Given the description of an element on the screen output the (x, y) to click on. 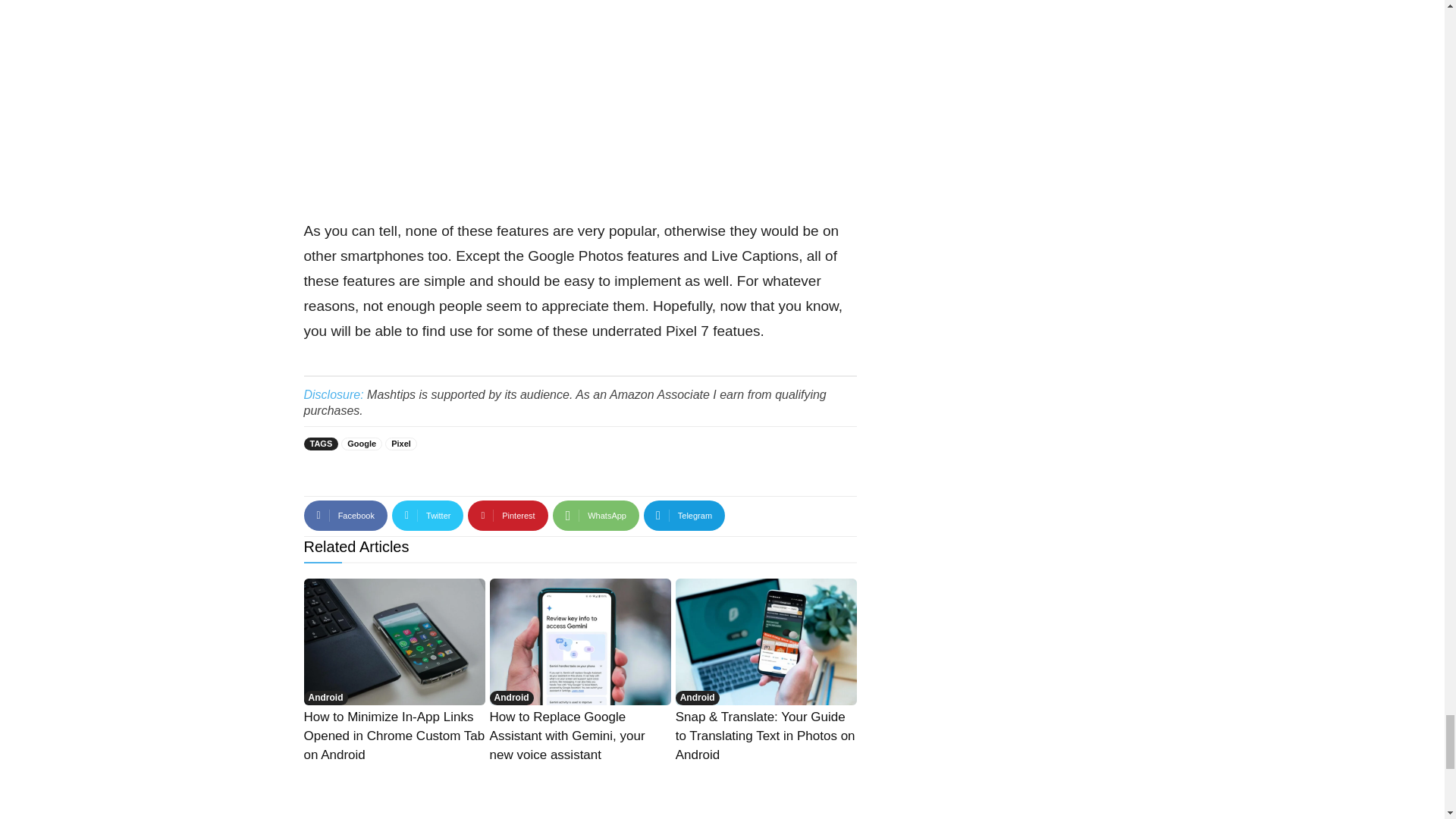
Facebook (344, 515)
